Given the description of an element on the screen output the (x, y) to click on. 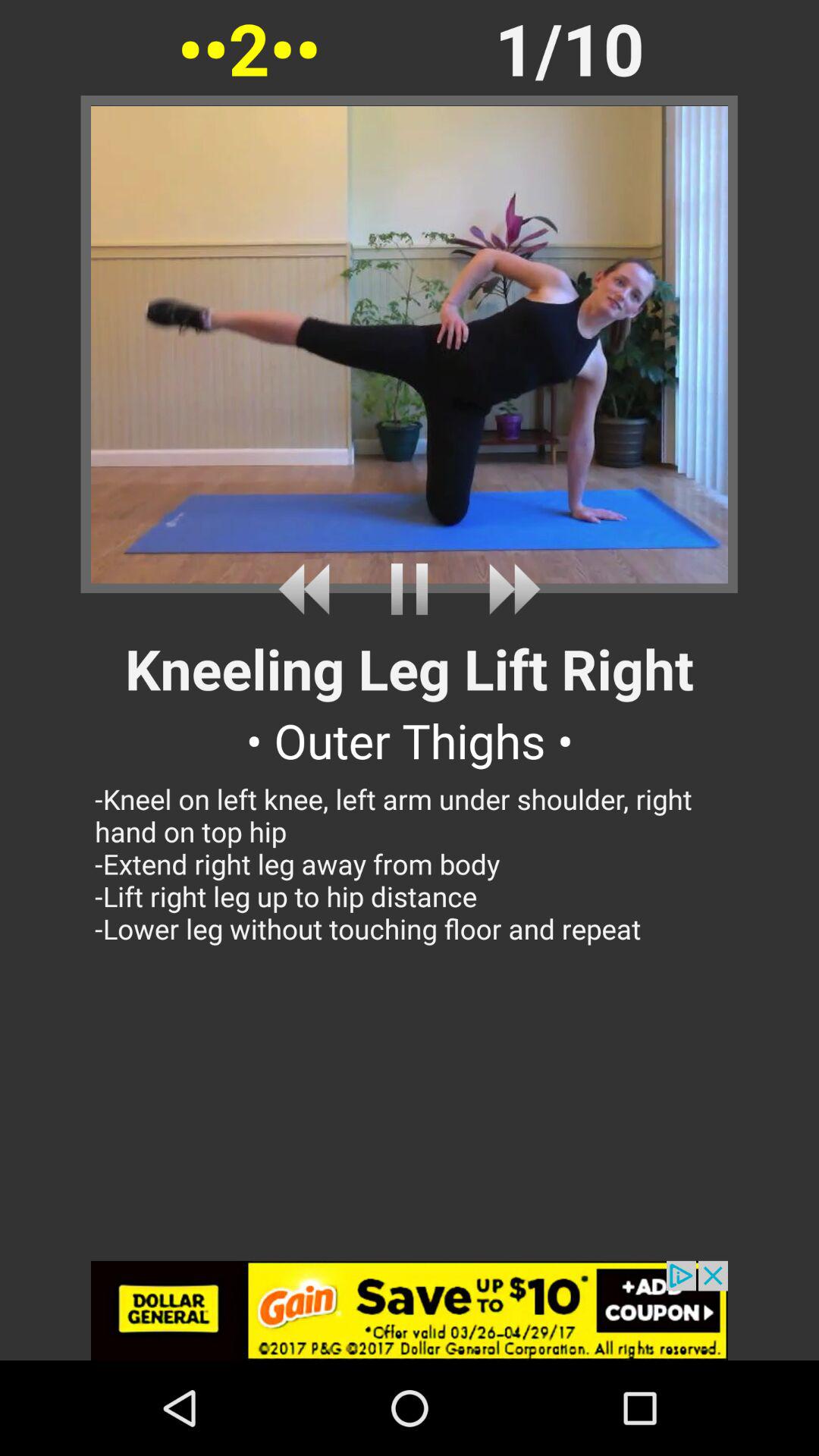
go to next (508, 589)
